Given the description of an element on the screen output the (x, y) to click on. 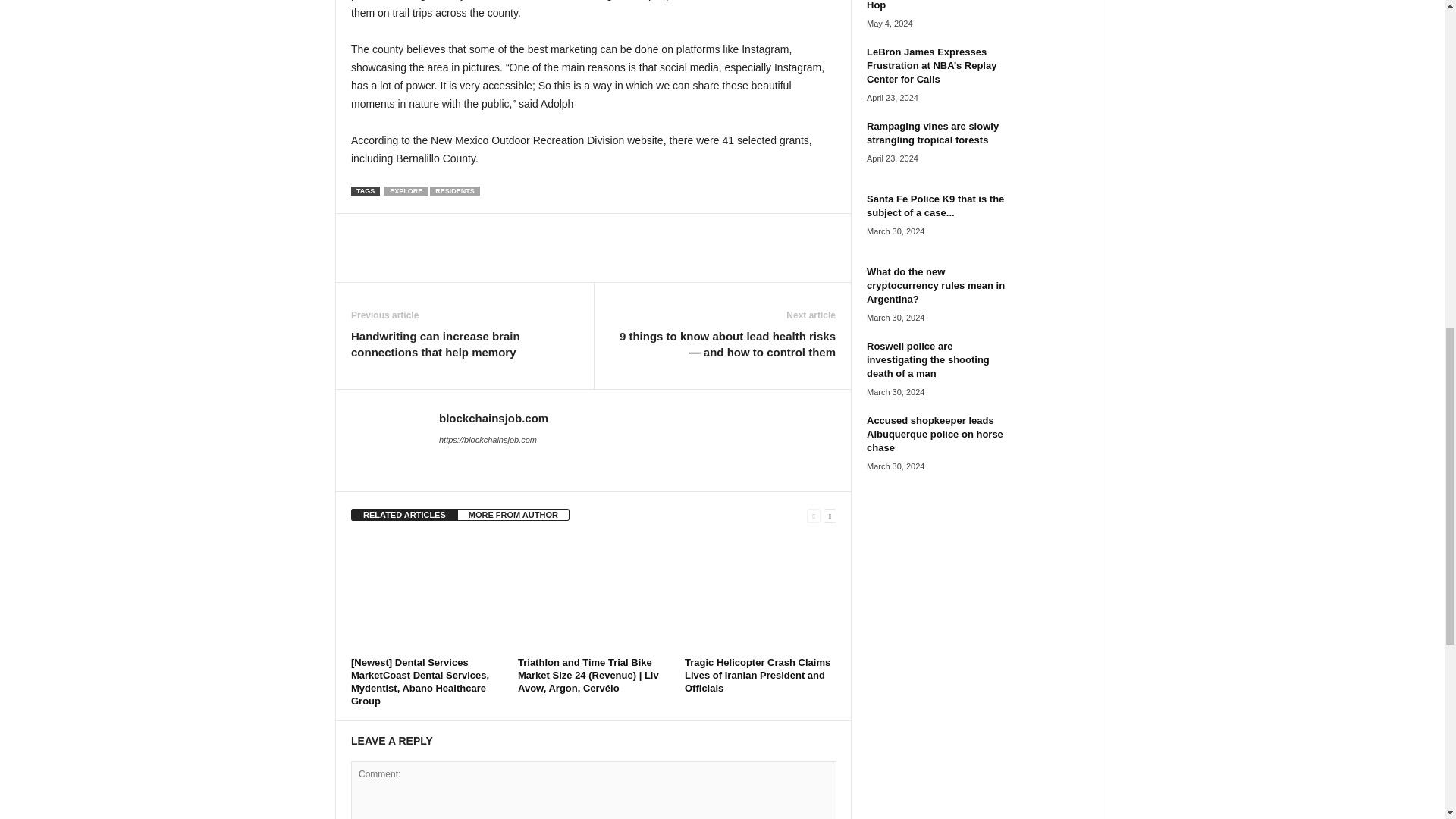
Handwriting can increase brain connections that help memory (464, 344)
RELATED ARTICLES (404, 514)
RESIDENTS (454, 190)
bottomFacebookLike (390, 229)
blockchainsjob.com (493, 418)
MORE FROM AUTHOR (513, 514)
EXPLORE (406, 190)
